Given the description of an element on the screen output the (x, y) to click on. 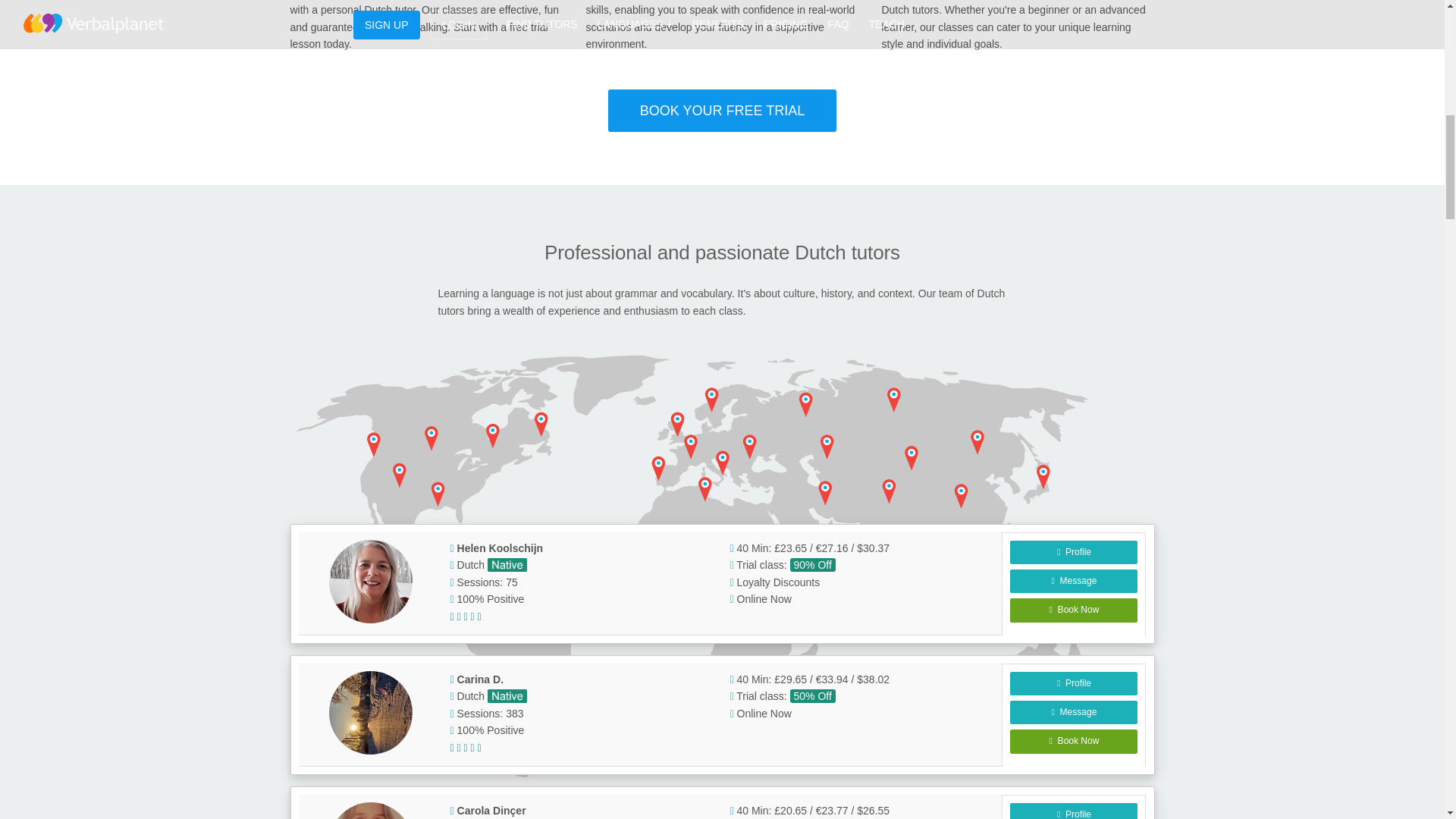
Carina D. (370, 712)
Helen Koolschijn (370, 581)
